Given the description of an element on the screen output the (x, y) to click on. 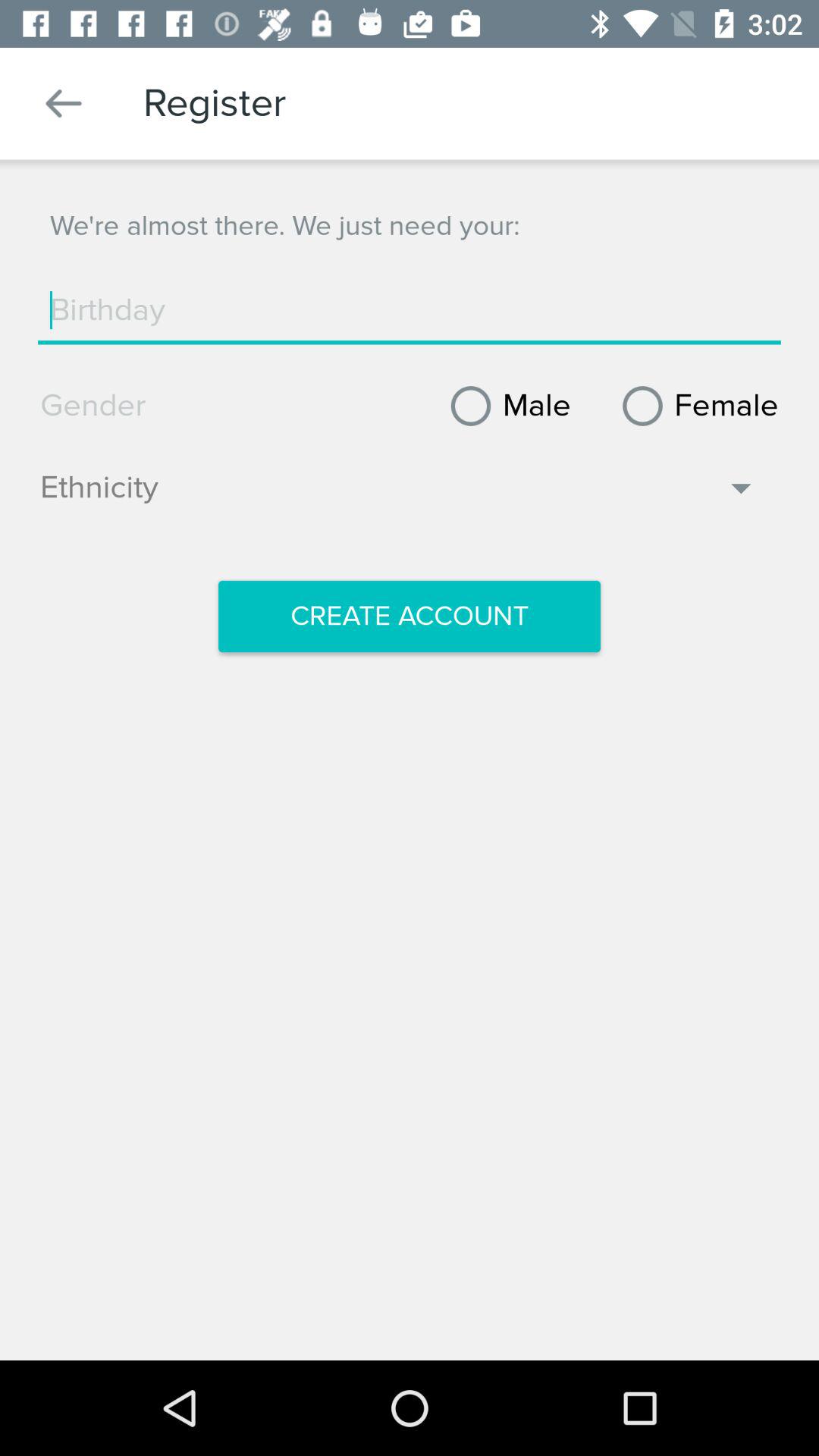
type in your birthday (409, 310)
